Given the description of an element on the screen output the (x, y) to click on. 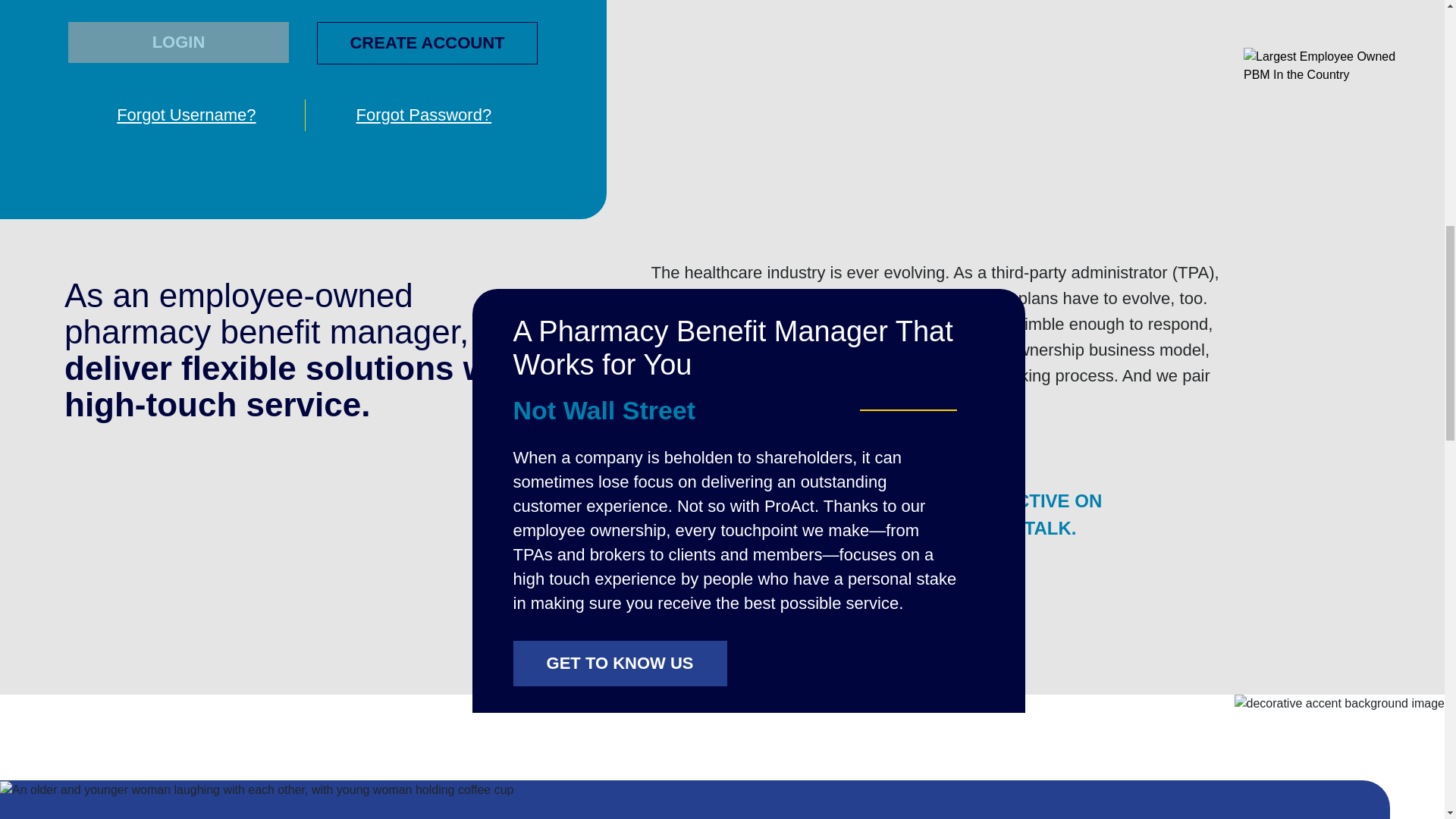
LOGIN (178, 42)
GET TO KNOW US (619, 663)
Forgot Username? (186, 115)
CREATE ACCOUNT (427, 43)
LET'S GET STARTED (757, 595)
Forgot Password? (423, 115)
